Given the description of an element on the screen output the (x, y) to click on. 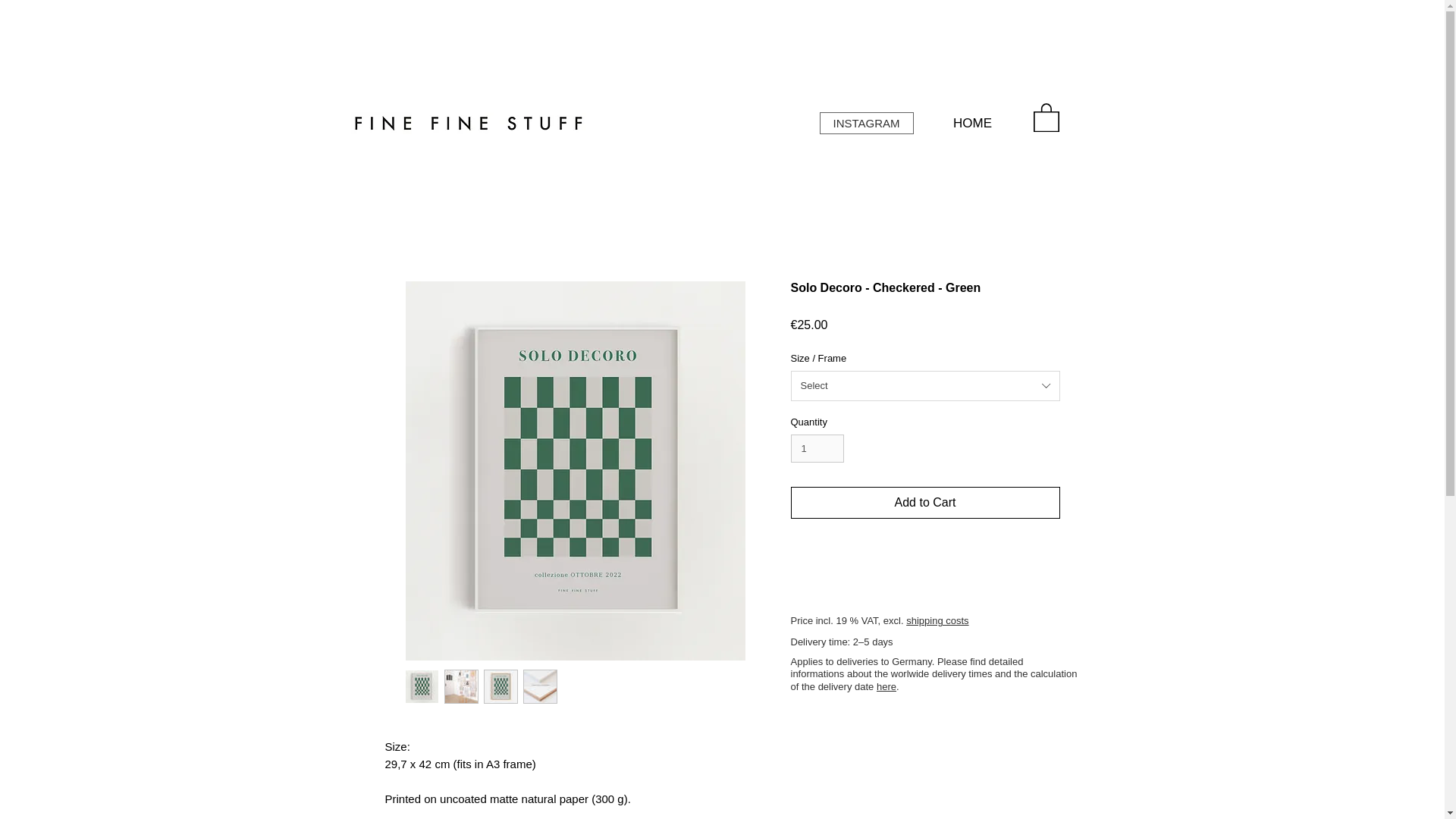
shipping costs (936, 620)
Add to Cart (924, 502)
Select (924, 386)
INSTAGRAM (865, 123)
1 (817, 448)
here (886, 686)
HOME (972, 123)
